Given the description of an element on the screen output the (x, y) to click on. 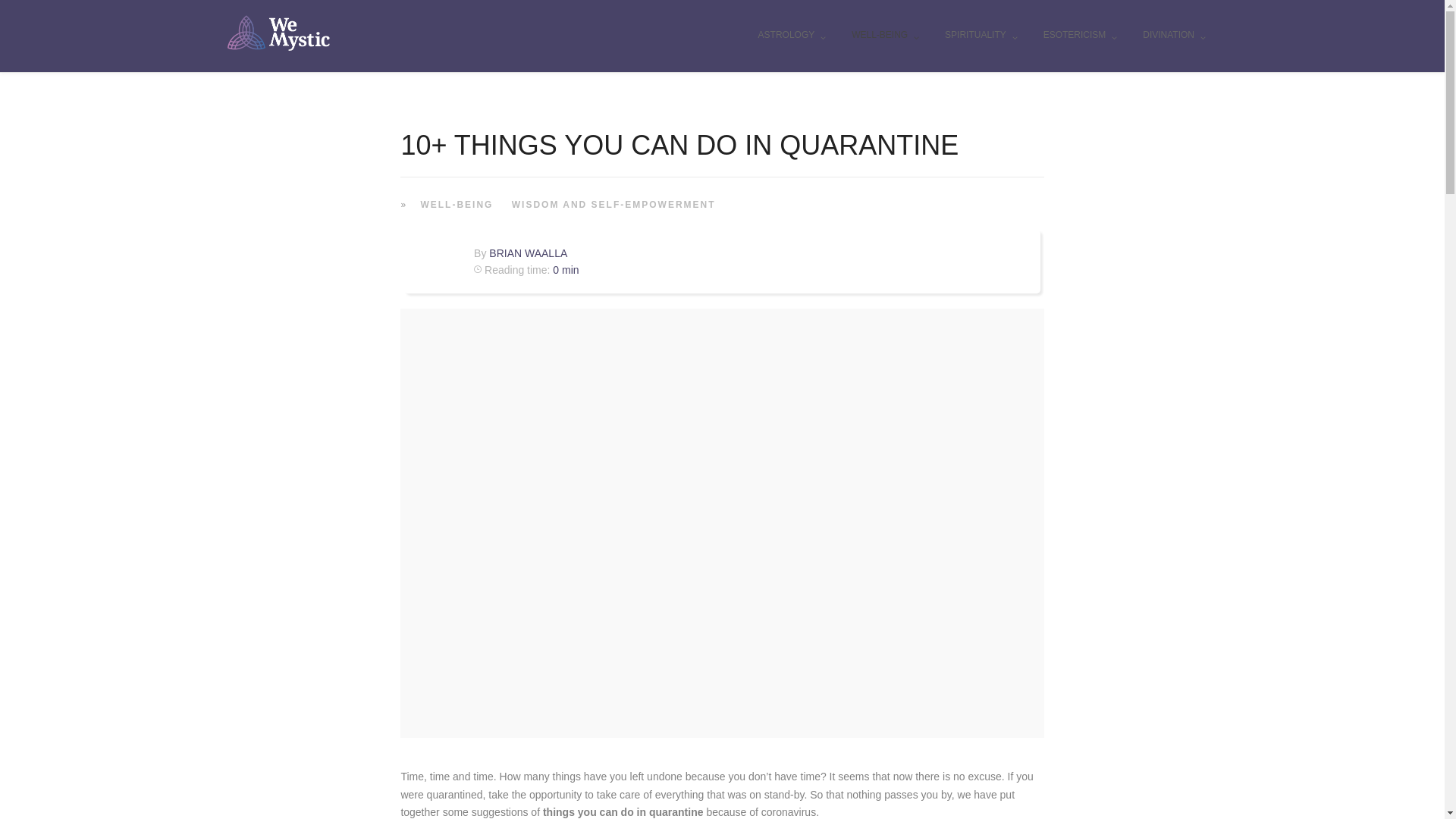
WELL-BEING (885, 35)
SPIRITUALITY (981, 35)
WISDOM AND SELF-EMPOWERMENT (611, 203)
WELL-BEING (454, 203)
BRIAN WAALLA (528, 253)
ASTROLOGY (792, 35)
DIVINATION (1174, 35)
ESOTERICISM (1080, 35)
